Given the description of an element on the screen output the (x, y) to click on. 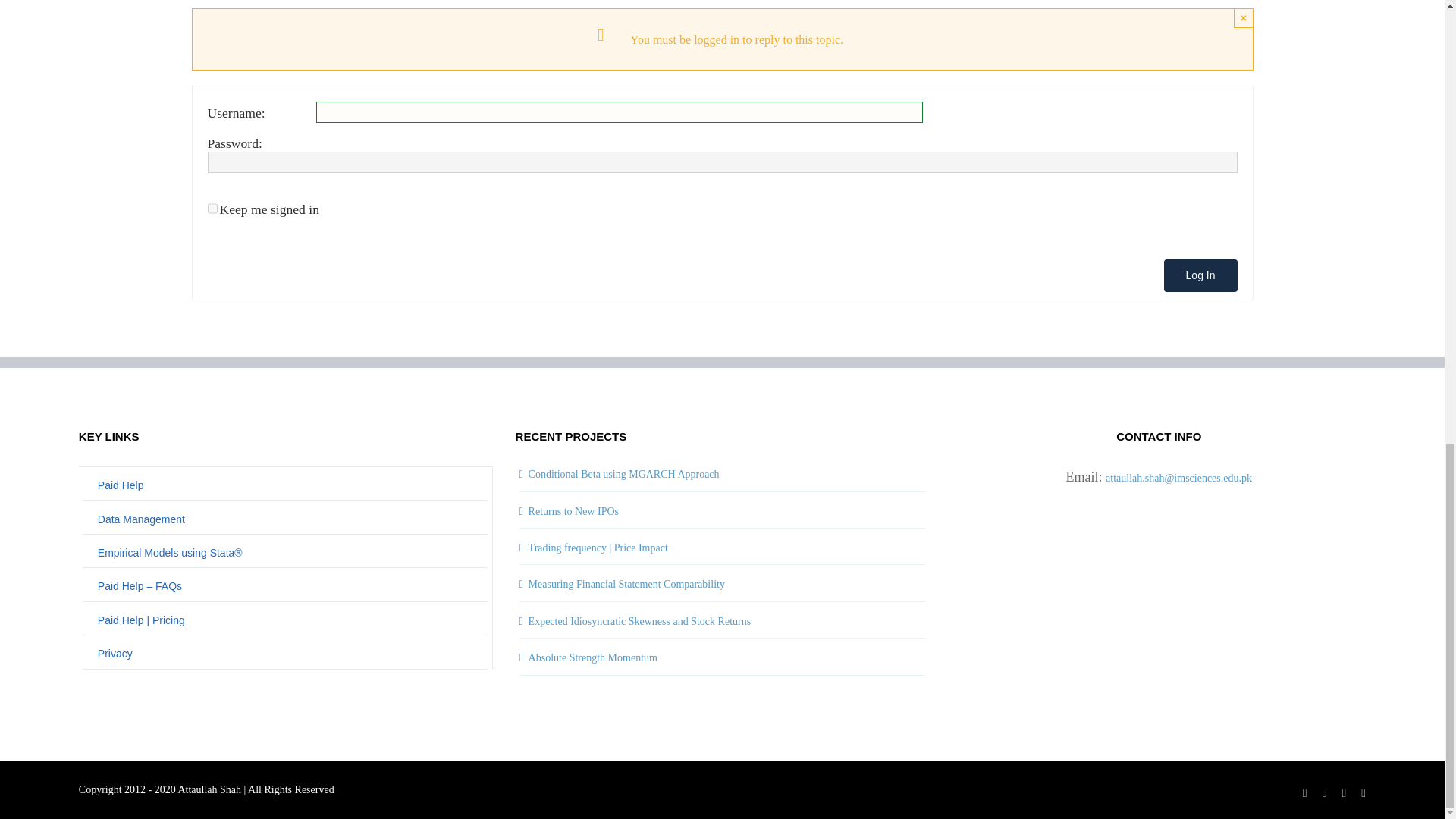
Back to Parent Page (284, 485)
